Given the description of an element on the screen output the (x, y) to click on. 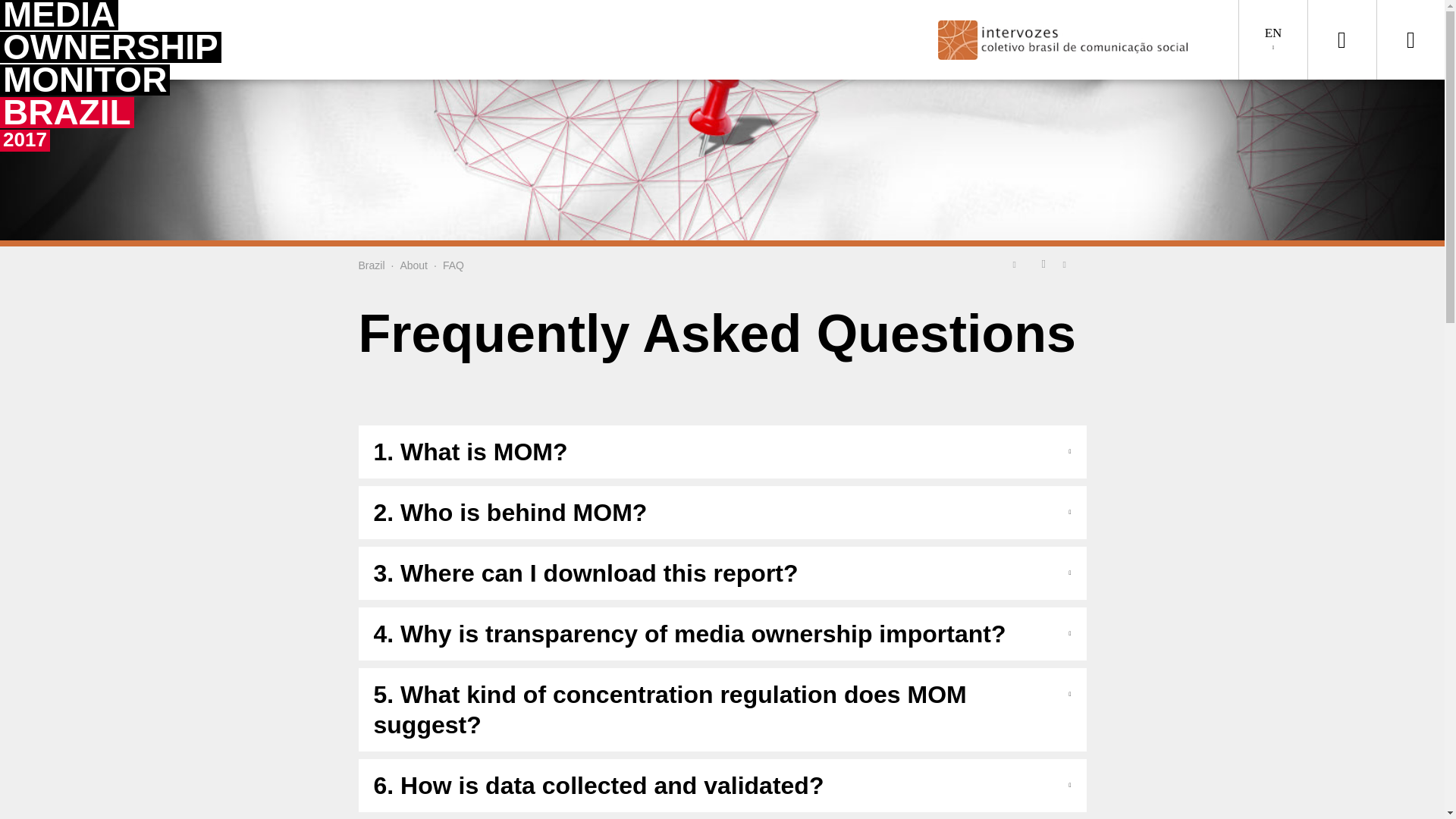
email (1068, 263)
twitter (1017, 263)
FAQ (453, 264)
Brazil (371, 264)
Media Ownership Monitor Brazil (371, 264)
facebook (1042, 263)
FAQ (453, 264)
Share this site on twitter (1017, 263)
Share this site on facebook (1042, 263)
Intervozes (1076, 39)
